Given the description of an element on the screen output the (x, y) to click on. 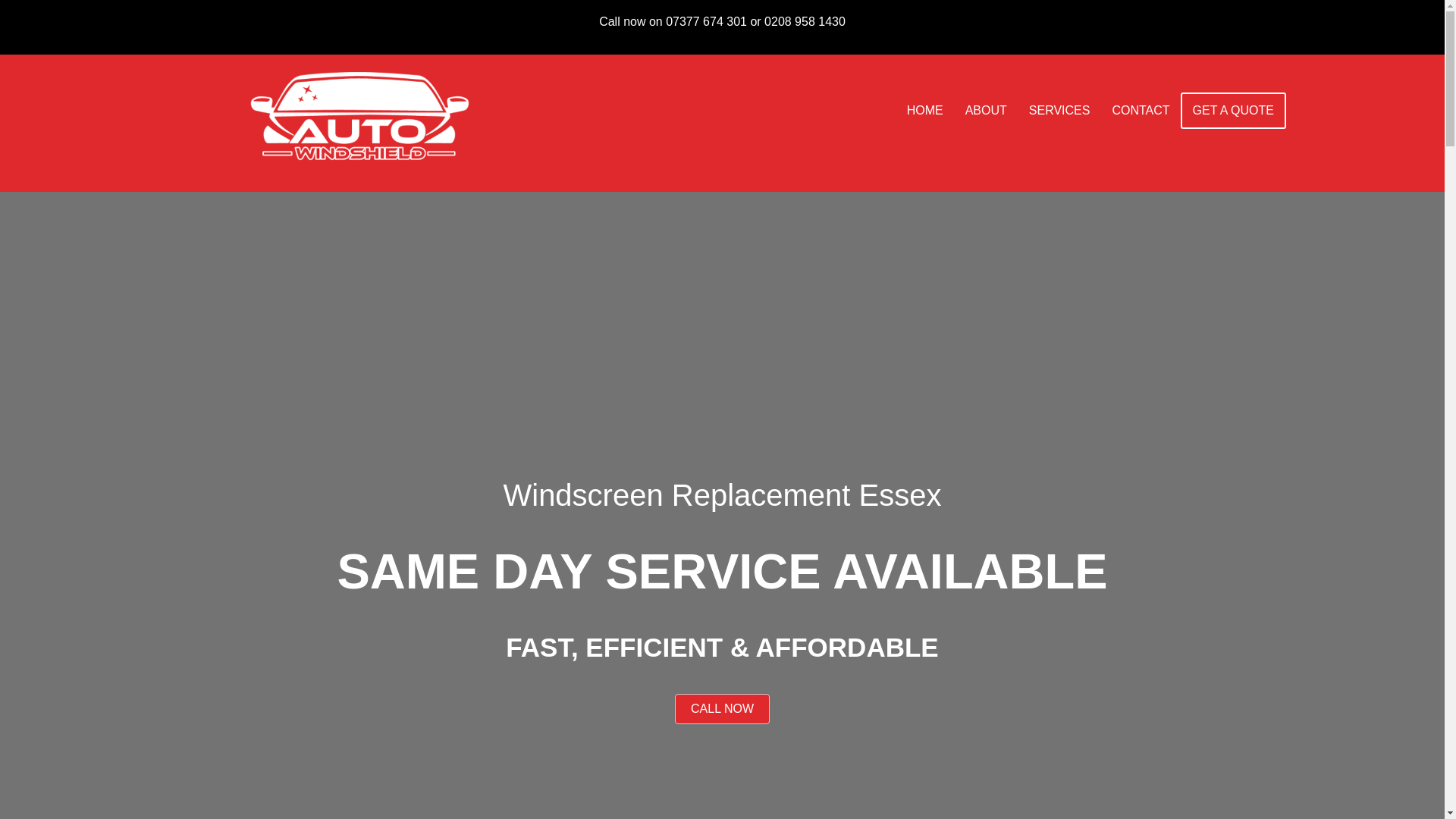
CALL NOW (722, 708)
SERVICES (1058, 110)
07377 674 301 (705, 21)
HOME (924, 110)
CONTACT (1139, 110)
ABOUT (986, 110)
Skip to content (11, 31)
GET A QUOTE (1233, 110)
0208 958 1430 (804, 21)
Auto-Windshield (360, 115)
